Given the description of an element on the screen output the (x, y) to click on. 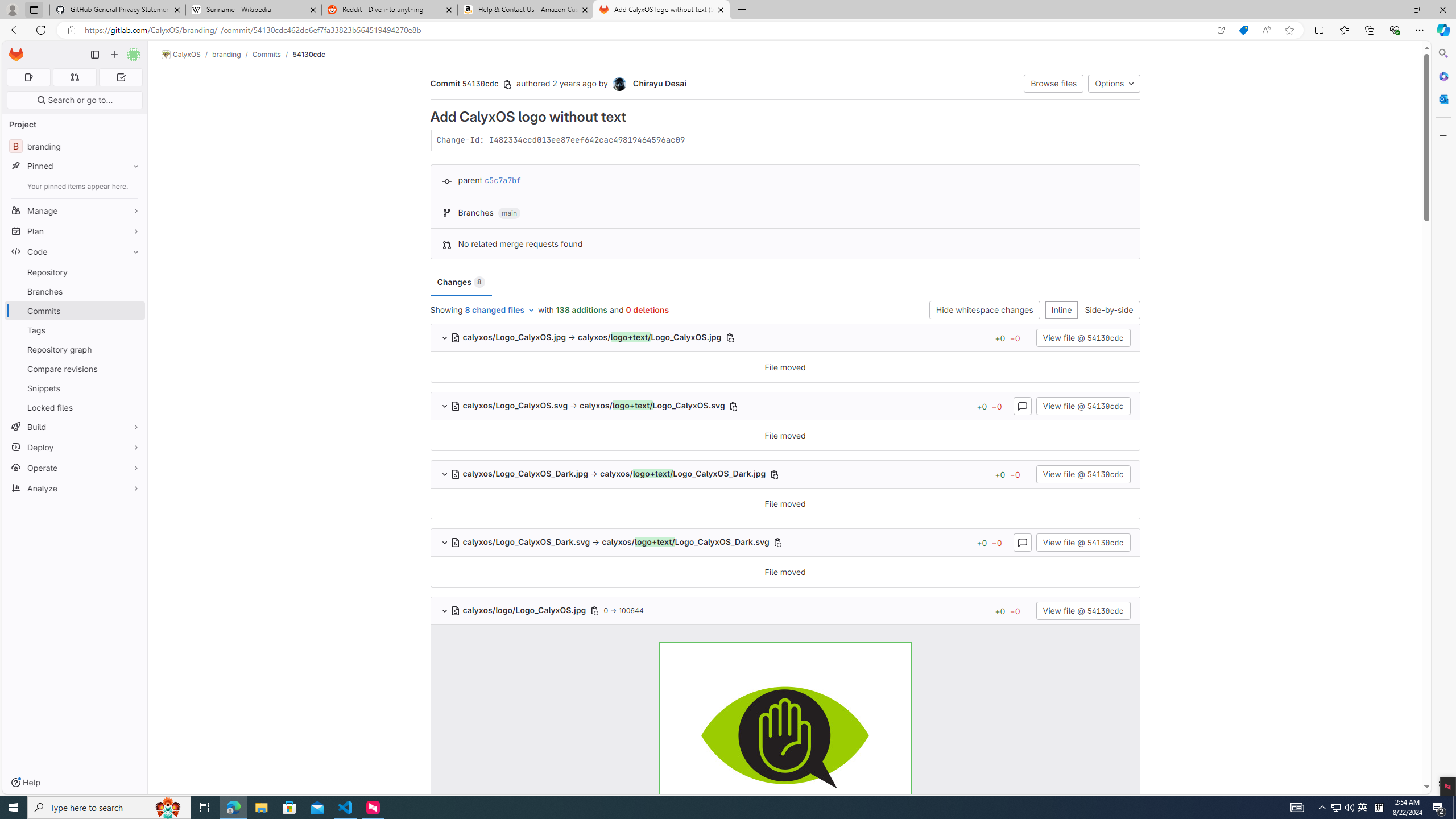
Deploy (74, 447)
branding/ (231, 53)
Compare revisions (74, 368)
Merge requests 0 (74, 76)
Class: s16 gl-icon gl-button-icon  (594, 610)
Options (1113, 83)
branding (226, 53)
CalyxOS/ (186, 54)
calyxos/logo/Logo_CalyxOS.jpg  (519, 610)
Chirayu Desai's avatar (618, 83)
Bbranding (74, 145)
